Given the description of an element on the screen output the (x, y) to click on. 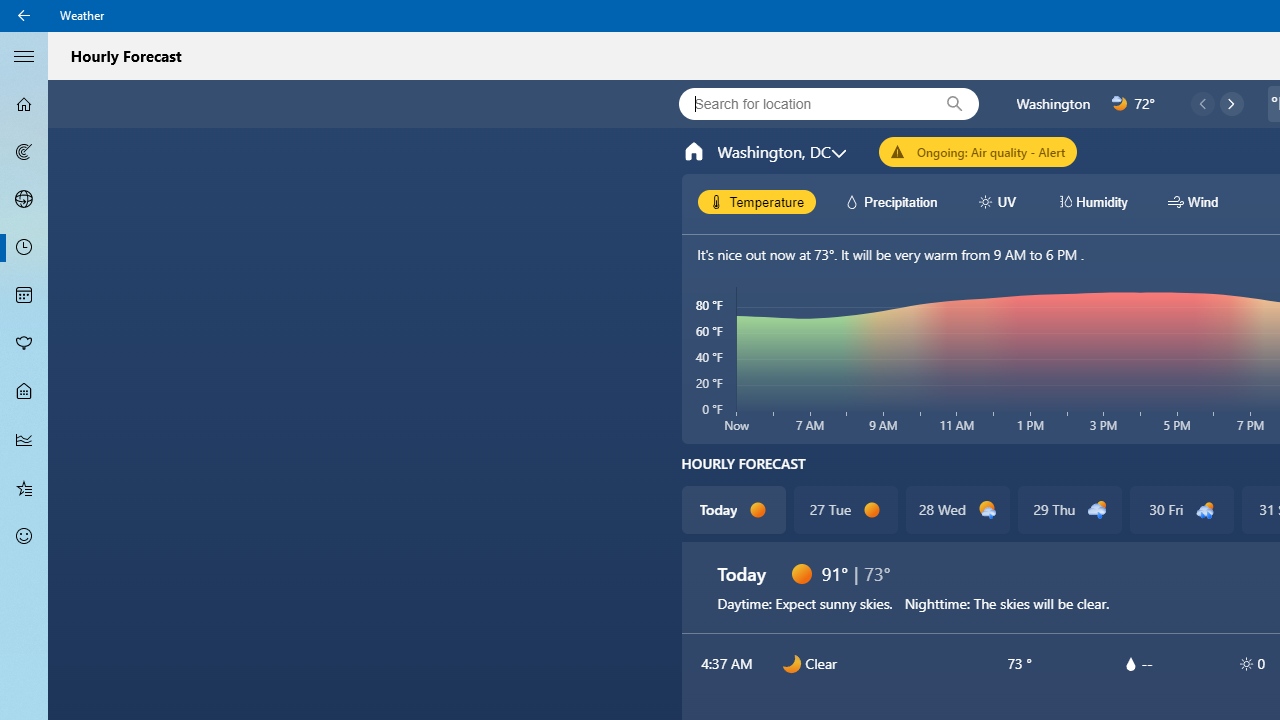
Hourly Forecast - Not Selected (24, 247)
Forecast - Not Selected (24, 103)
Life - Not Selected (24, 391)
Historical Weather - Not Selected (24, 439)
Send Feedback - Not Selected (24, 535)
Pollen - Not Selected (24, 343)
Favorites - Not Selected (24, 487)
3D Maps - Not Selected (24, 199)
Favorites - Not Selected (24, 487)
Historical Weather - Not Selected (24, 439)
Send Feedback - Not Selected (24, 535)
Life - Not Selected (24, 391)
Forecast - Not Selected (24, 103)
Back (24, 15)
Monthly Forecast - Not Selected (24, 295)
